Given the description of an element on the screen output the (x, y) to click on. 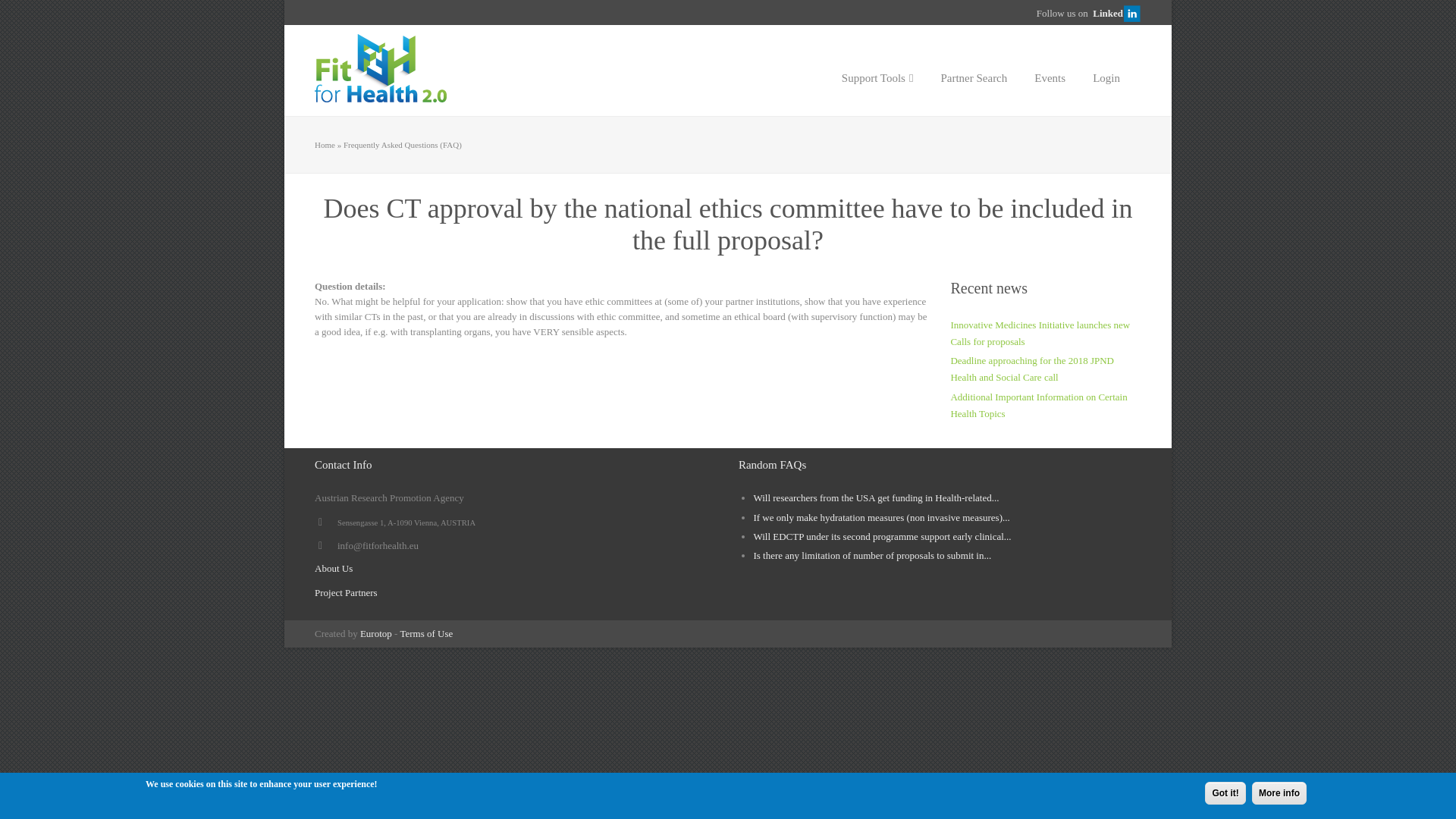
Linked (1117, 13)
Home (324, 144)
Project Partners (345, 592)
Project Partners (345, 592)
About Us (333, 568)
Fit for Health 2.0 (324, 144)
About Us (333, 568)
Eurotop (375, 633)
Terms of Use (425, 633)
Support Tools (877, 71)
LinkedIn (1117, 13)
